Given the description of an element on the screen output the (x, y) to click on. 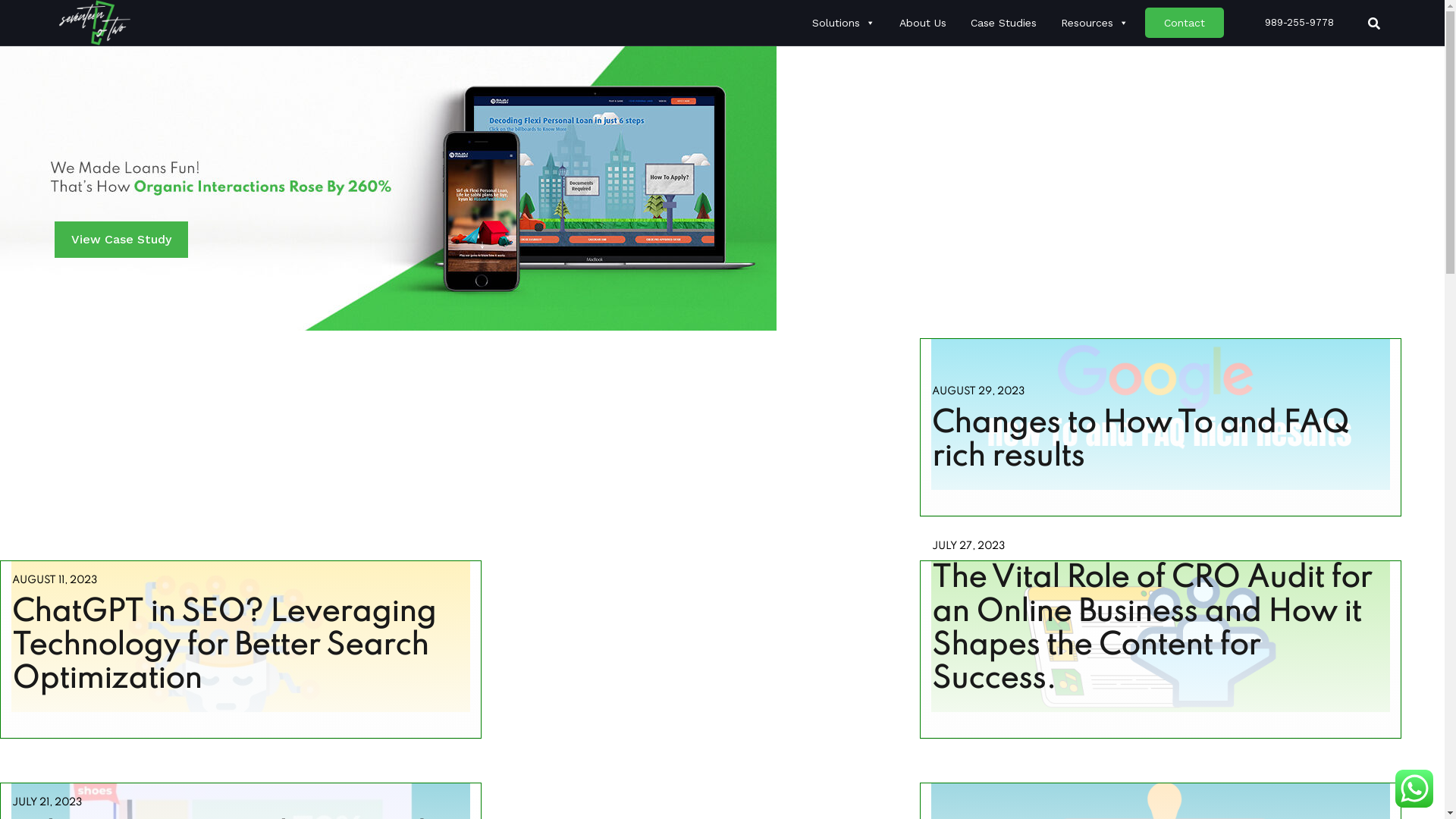
AUGUST 11, 2023 Element type: text (54, 579)
About Us Element type: text (922, 22)
View Case Study Element type: text (121, 239)
Solutions Element type: text (843, 22)
Resources Element type: text (1094, 22)
989-255-9778 Element type: text (1287, 22)
JULY 27, 2023 Element type: text (967, 545)
Contact Element type: text (1184, 22)
Case Studies Element type: text (1003, 22)
AUGUST 29, 2023 Element type: text (977, 390)
JULY 21, 2023 Element type: text (46, 801)
Changes to How To and FAQ rich results Element type: text (1140, 440)
